Given the description of an element on the screen output the (x, y) to click on. 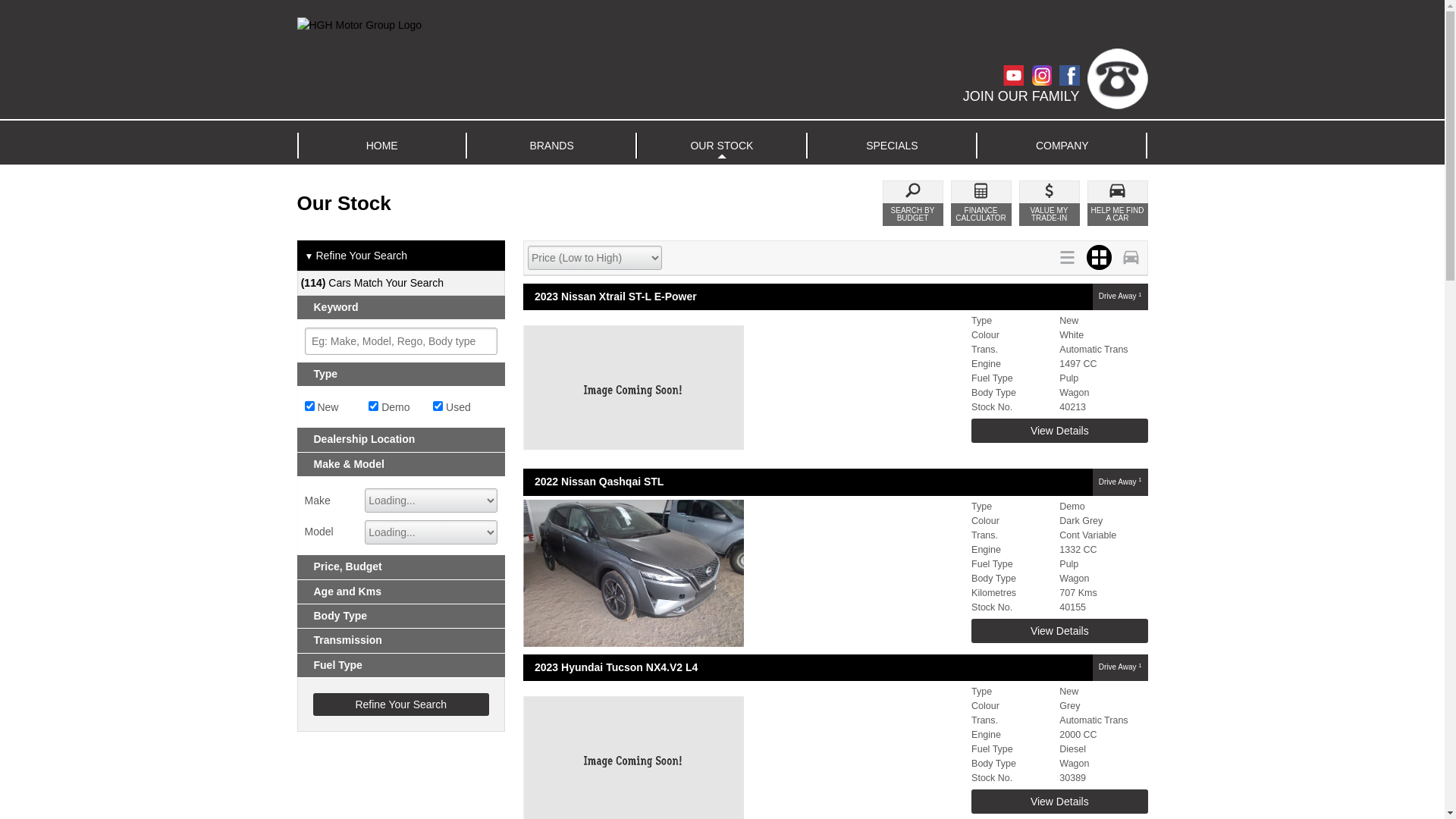
Transmission Element type: text (401, 640)
Drive Away 1 Element type: text (1120, 296)
Keyword Element type: text (401, 307)
HELP ME FIND A CAR Element type: text (1117, 202)
HOME Element type: text (381, 145)
Refine Your Search Element type: text (400, 704)
instagram Element type: text (1045, 75)
View Details Element type: text (1059, 801)
Drive Away 1 Element type: text (1120, 667)
FINANCE CALCULATOR Element type: text (980, 202)
View Details Element type: text (1059, 630)
youtube Element type: text (1016, 75)
BRANDS Element type: text (551, 145)
2022 Nissan Qashqai STL Element type: text (807, 481)
facebook Element type: text (1072, 75)
SPECIALS Element type: text (891, 145)
Type Element type: text (401, 373)
2023 Nissan Xtrail ST-L E-Power Element type: text (807, 296)
View Details Element type: text (1059, 430)
Fuel Type Element type: text (401, 665)
Body Type Element type: text (401, 615)
Drive Away 1 Element type: text (1120, 481)
2022 NISSAN QASHQAI STL DARK GREY Element type: hover (743, 572)
COMPANY Element type: text (1061, 145)
Price, Budget Element type: text (401, 566)
Make & Model Element type: text (401, 464)
OUR STOCK Element type: text (721, 145)
2023 Hyundai Tucson NX4.V2 L4 Element type: text (807, 667)
Dealership Location Element type: text (401, 439)
SEARCH BY BUDGET Element type: text (912, 202)
2023 NISSAN XTRAIL Element type: hover (743, 387)
VALUE MY TRADE-IN Element type: text (1049, 202)
Age and Kms Element type: text (401, 591)
